Given the description of an element on the screen output the (x, y) to click on. 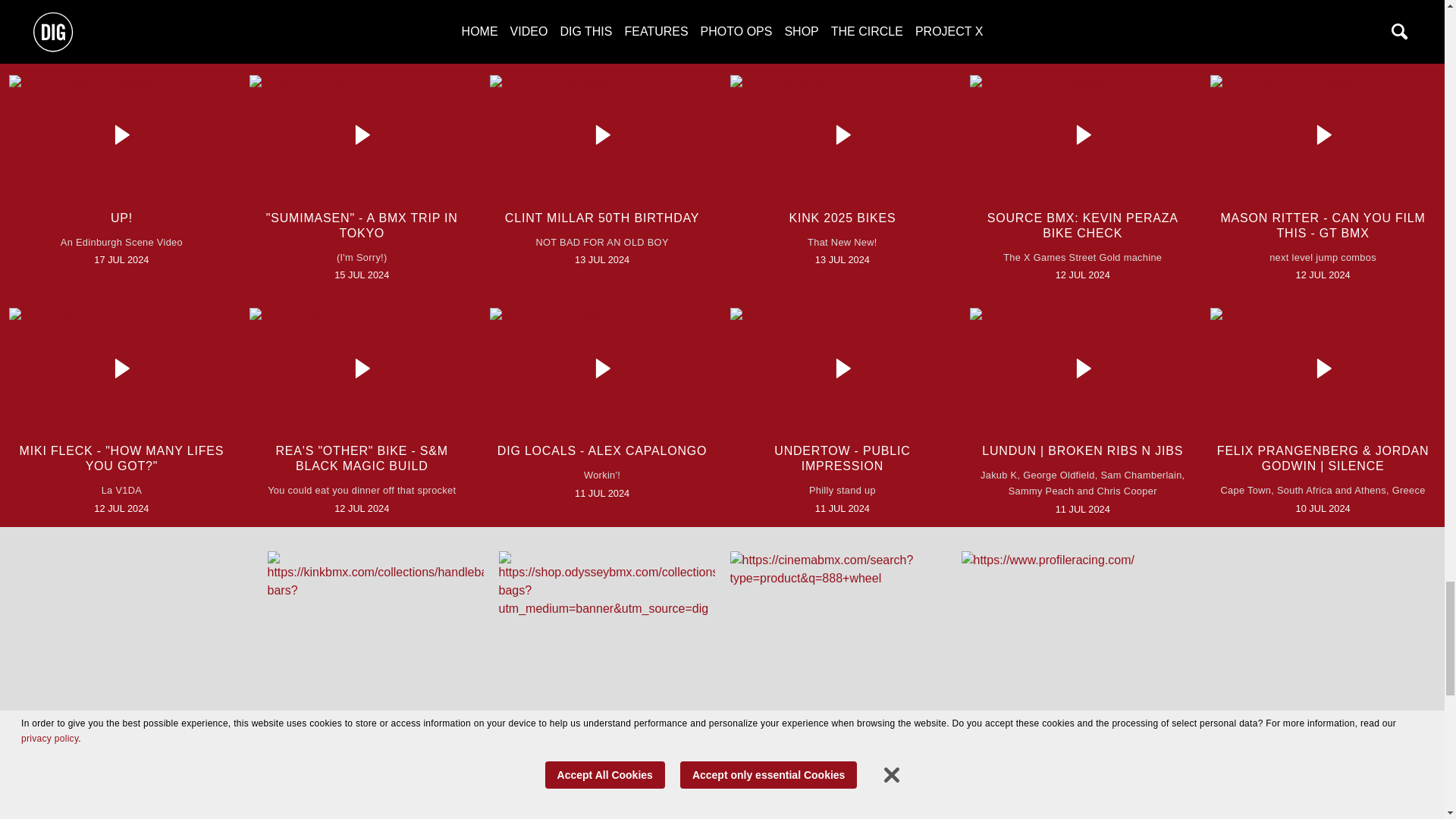
To the top (722, 802)
